Given the description of an element on the screen output the (x, y) to click on. 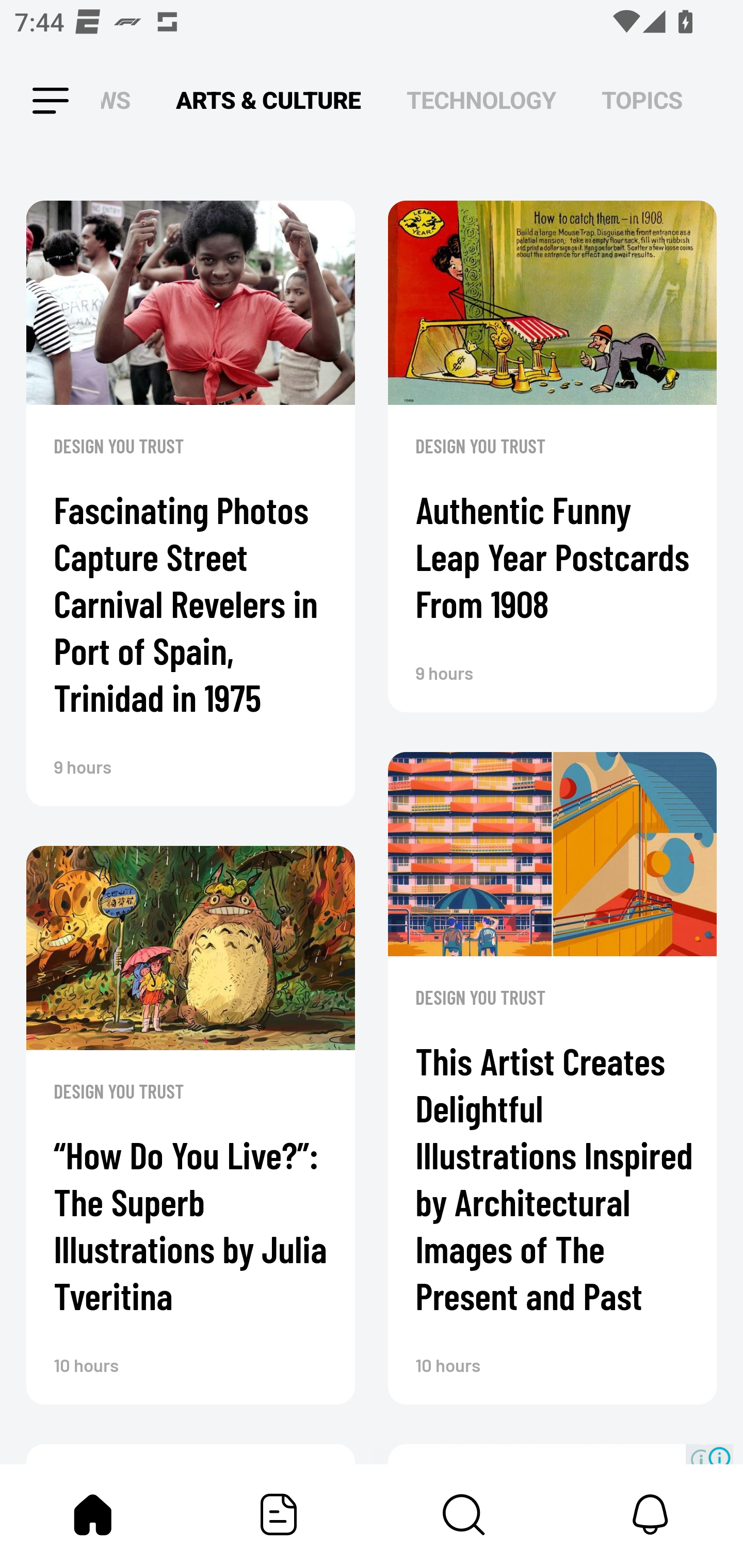
NEWS (121, 100)
TECHNOLOGY (481, 100)
TOPICS (641, 100)
Featured (278, 1514)
Content Store (464, 1514)
Notifications (650, 1514)
